Given the description of an element on the screen output the (x, y) to click on. 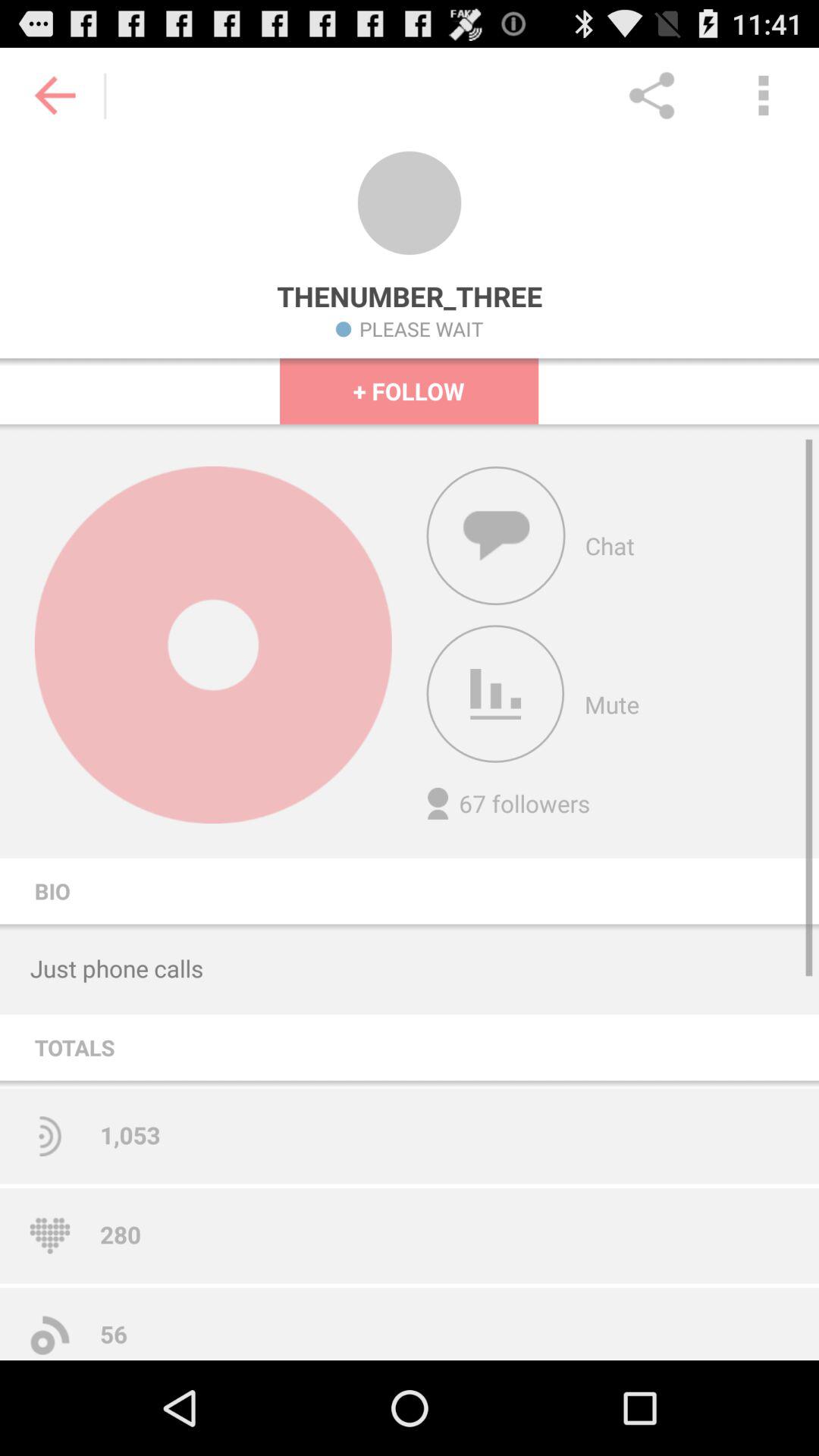
go to chat (495, 535)
